Given the description of an element on the screen output the (x, y) to click on. 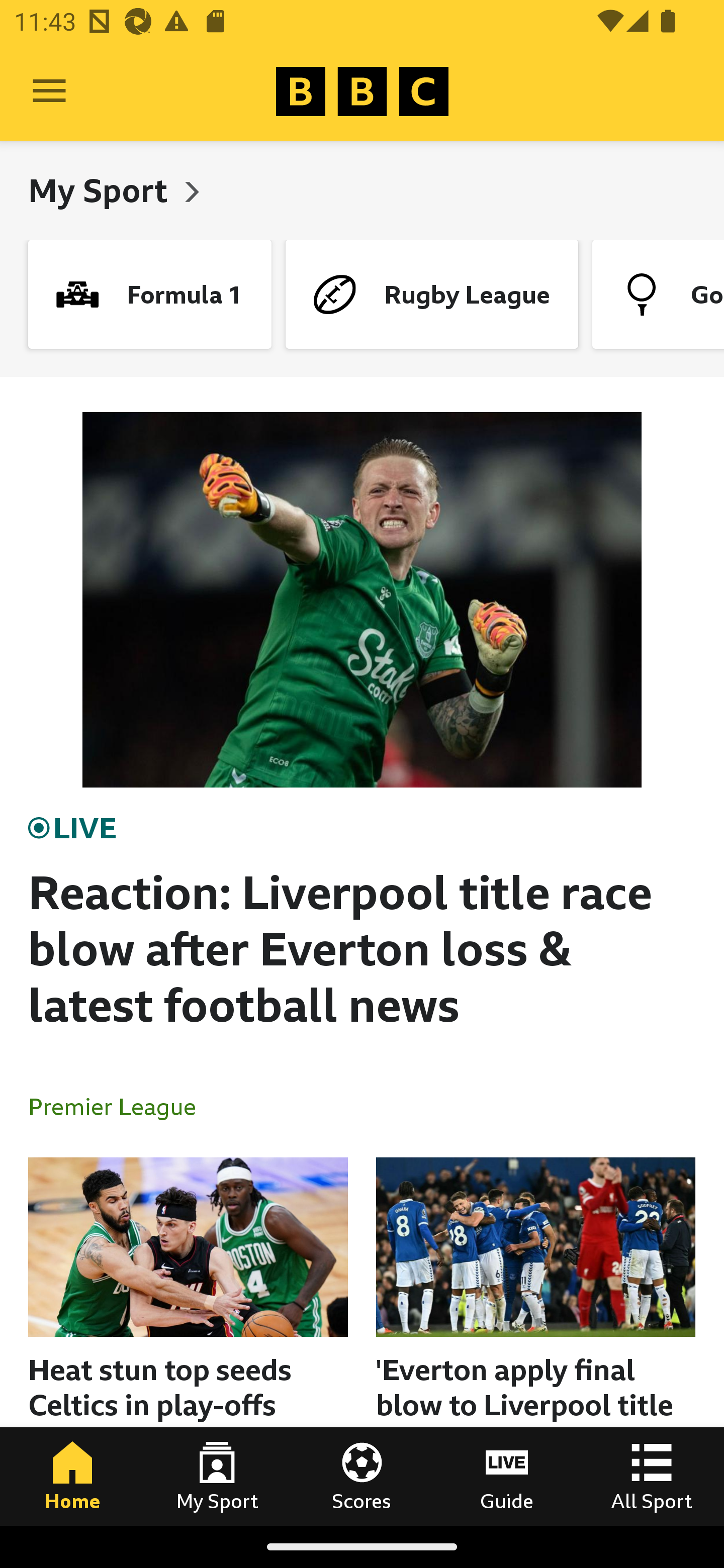
Open Menu (49, 91)
My Sport (101, 190)
Premier League In the section Premier League (119, 1106)
My Sport (216, 1475)
Scores (361, 1475)
Guide (506, 1475)
All Sport (651, 1475)
